Given the description of an element on the screen output the (x, y) to click on. 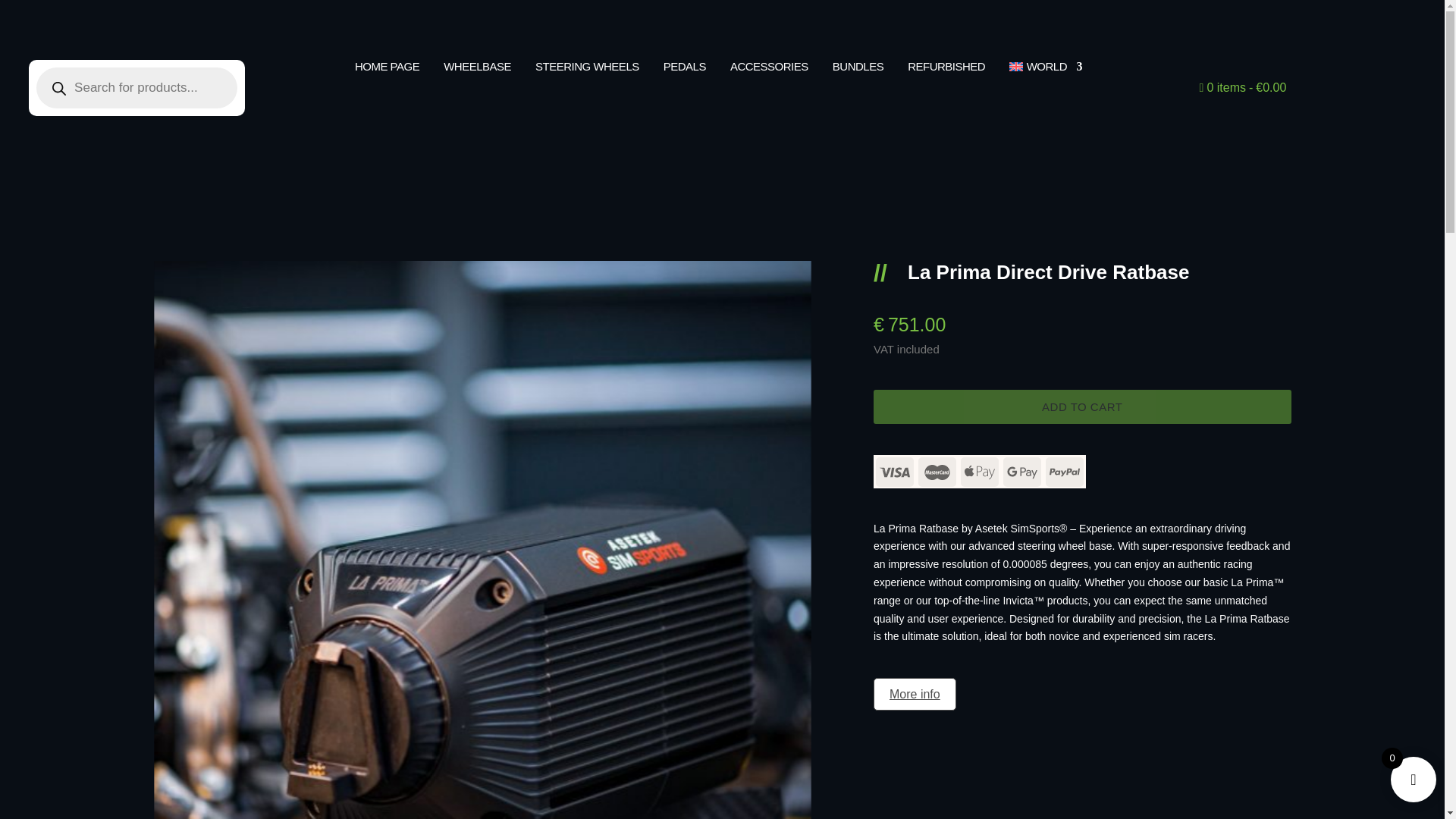
HOME PAGE (387, 69)
PEDALS (684, 69)
Start shopping (1243, 90)
ACCESSORIES (769, 69)
STEERING WHEELS (587, 69)
World (1045, 69)
BUNDLES (857, 69)
REFURBISHED (946, 69)
WORLD (1045, 69)
WHEELBASE (477, 69)
